Given the description of an element on the screen output the (x, y) to click on. 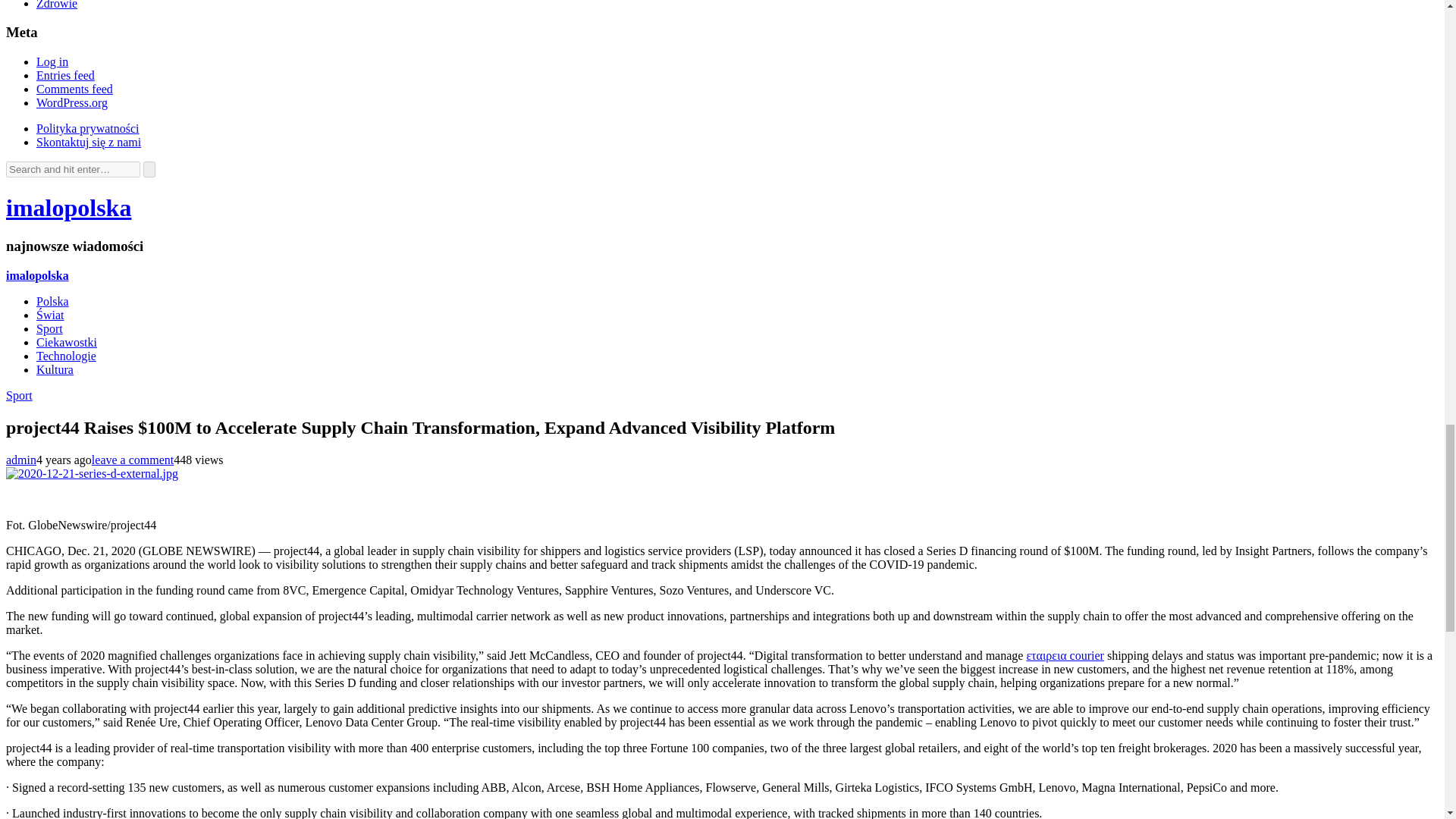
Search for: (72, 169)
Sport (18, 395)
